Given the description of an element on the screen output the (x, y) to click on. 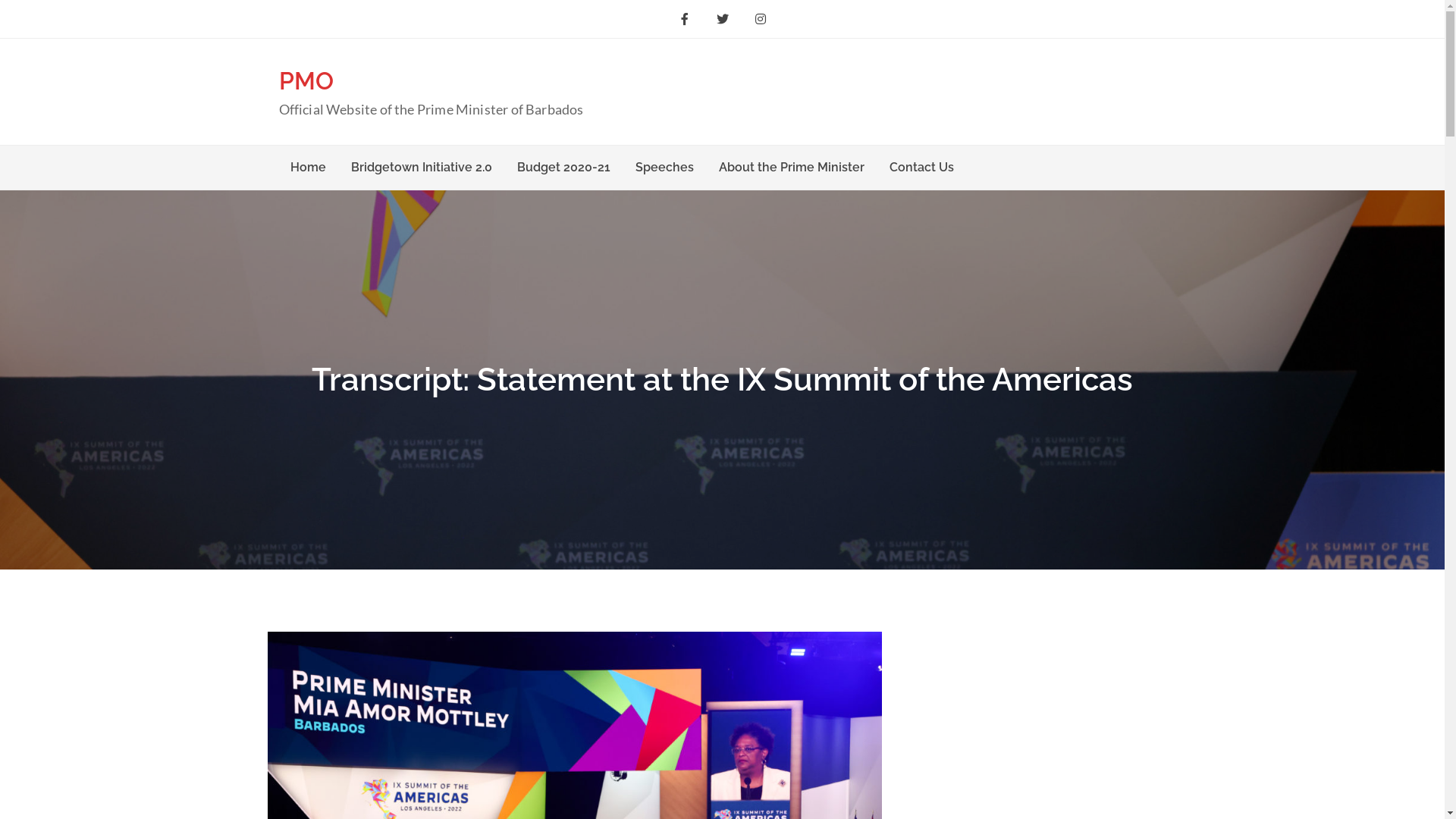
Bridgetown Initiative 2.0 Element type: text (421, 167)
PMO Element type: text (306, 80)
Budget 2020-21 Element type: text (563, 167)
About the Prime Minister Element type: text (790, 167)
Speeches Element type: text (663, 167)
Contact Us Element type: text (921, 167)
Home Element type: text (308, 167)
